Given the description of an element on the screen output the (x, y) to click on. 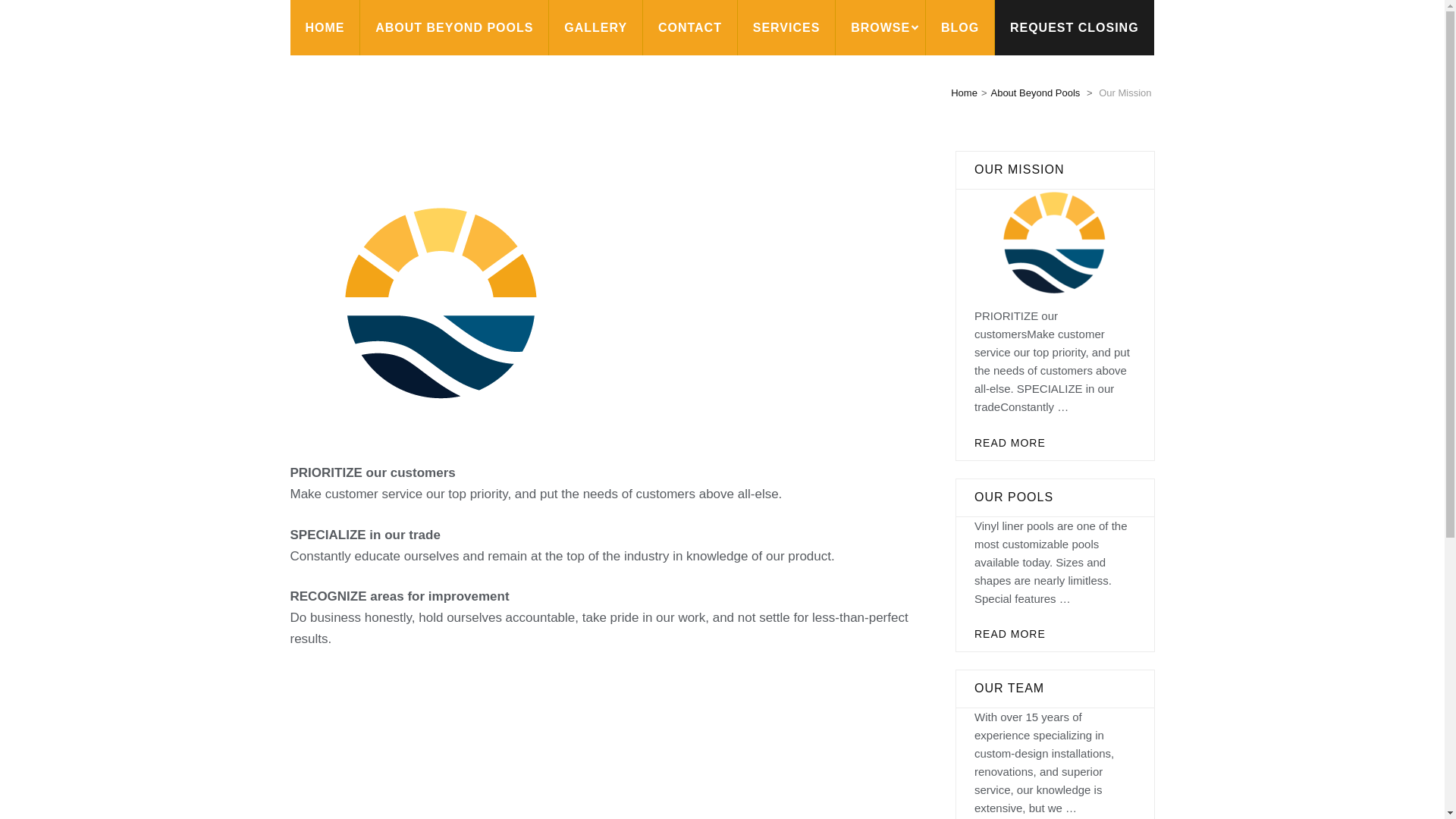
SERVICES (786, 27)
ABOUT BEYOND POOLS (453, 27)
BROWSE (879, 27)
Home (963, 92)
REQUEST CLOSING (1073, 27)
GALLERY (595, 27)
CONTACT (689, 27)
HOME (324, 27)
BLOG (960, 27)
